Given the description of an element on the screen output the (x, y) to click on. 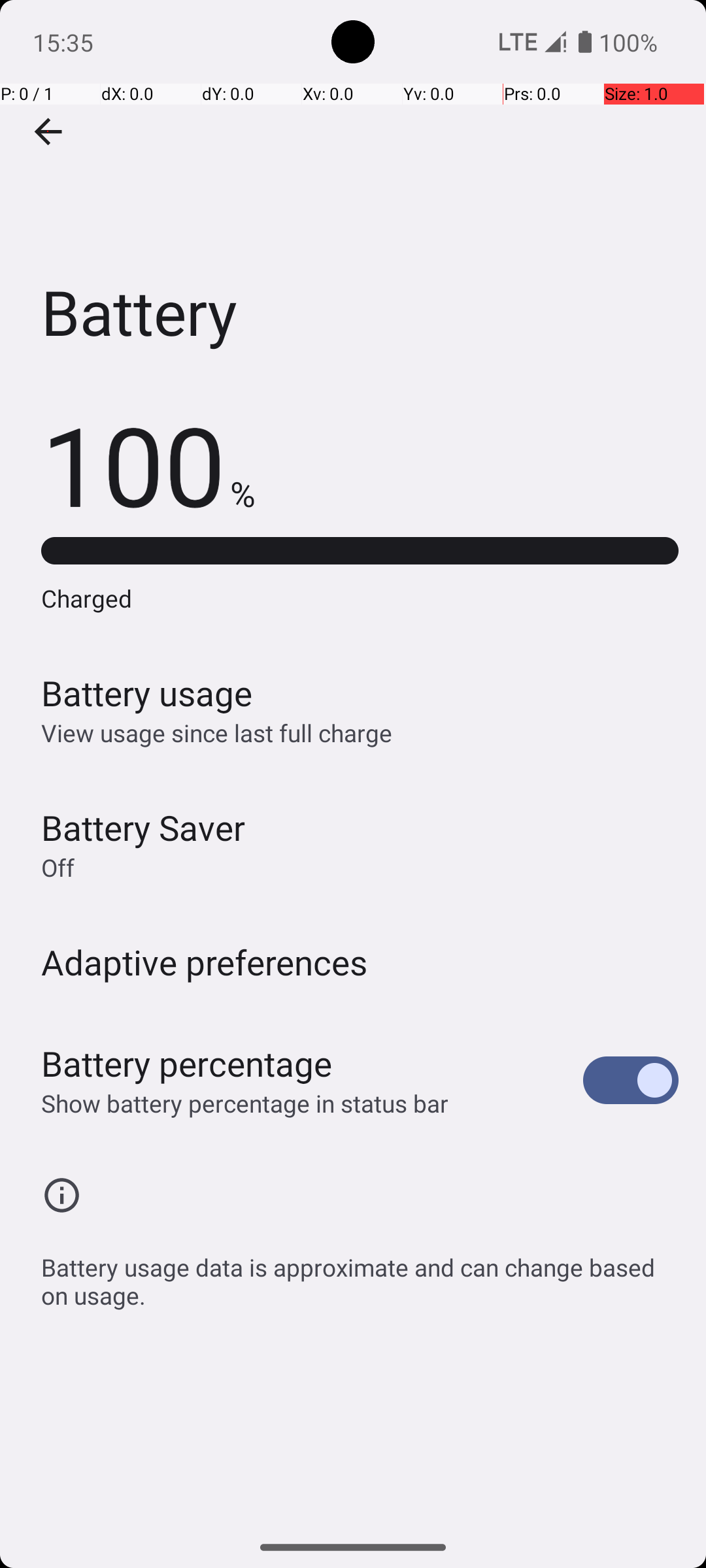
100 % Element type: android.widget.TextView (147, 463)
Charged Element type: android.widget.TextView (359, 597)
Battery usage Element type: android.widget.TextView (146, 692)
View usage since last full charge Element type: android.widget.TextView (216, 732)
Battery Saver Element type: android.widget.TextView (143, 827)
Adaptive preferences Element type: android.widget.TextView (204, 961)
Battery percentage Element type: android.widget.TextView (186, 1063)
Show battery percentage in status bar Element type: android.widget.TextView (244, 1102)
Battery usage data is approximate and can change based on usage. Element type: android.widget.TextView (359, 1274)
